Given the description of an element on the screen output the (x, y) to click on. 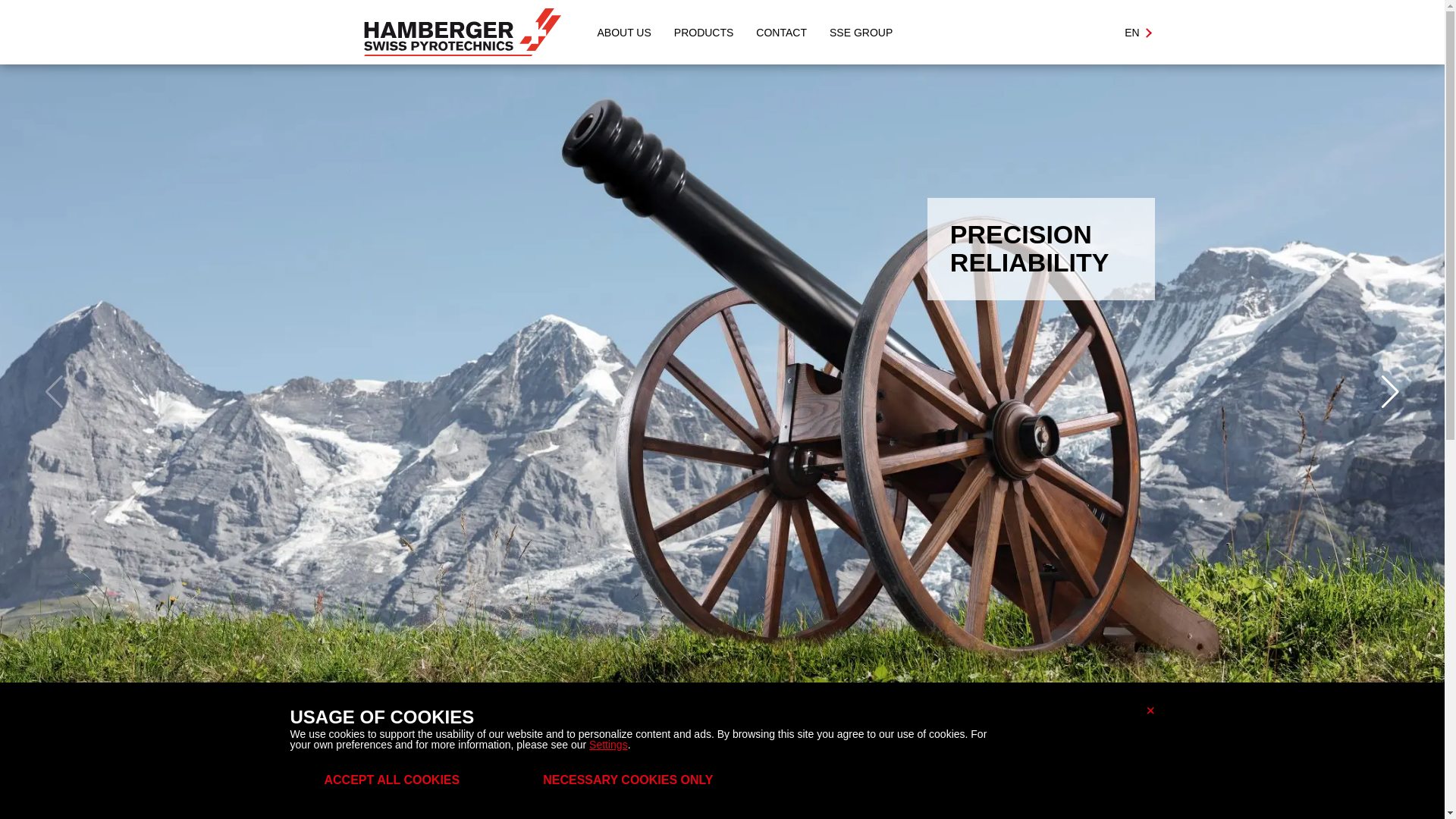
PRODUCTS (703, 32)
About us (623, 32)
Products (703, 32)
ABOUT US (623, 32)
SSE GROUP (861, 32)
CONTACT (781, 32)
